Given the description of an element on the screen output the (x, y) to click on. 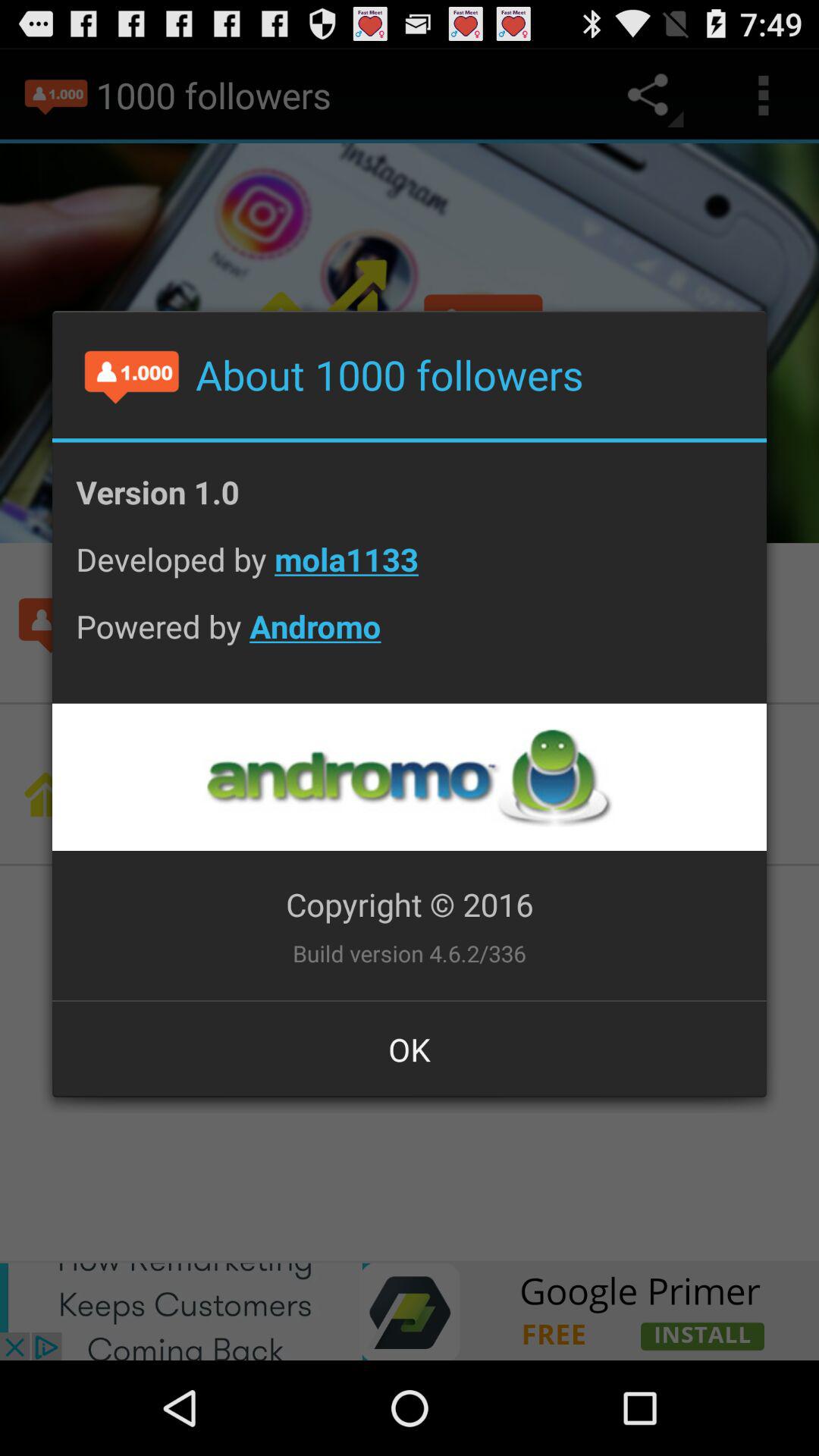
choose icon below build version 4 (409, 1049)
